Given the description of an element on the screen output the (x, y) to click on. 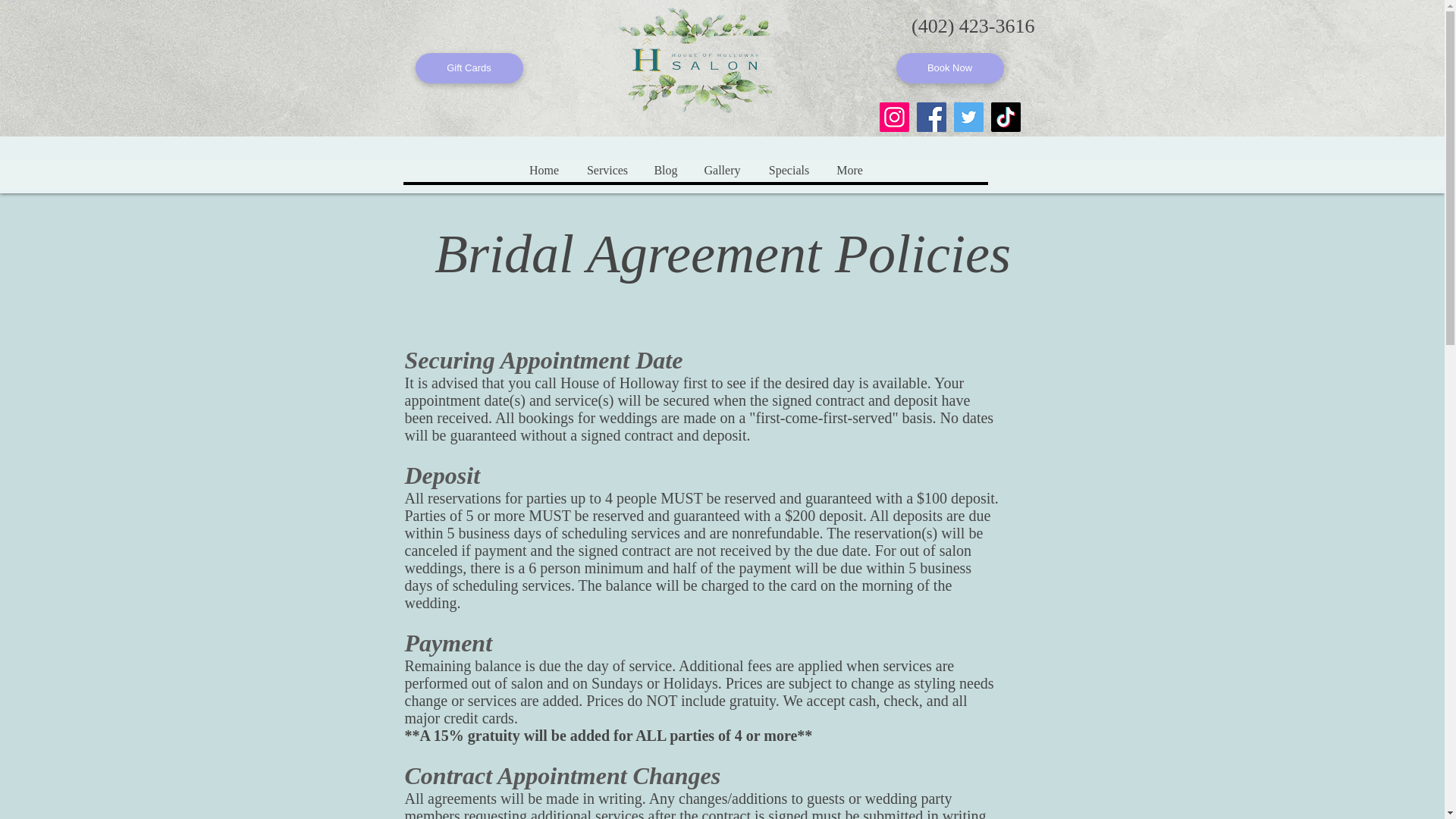
Gallery (721, 169)
Specials (788, 169)
Book Now (950, 68)
Business Logo Gimp 6.png (694, 56)
Gift Cards (468, 68)
Services (607, 169)
Blog (665, 169)
Home (543, 169)
